Given the description of an element on the screen output the (x, y) to click on. 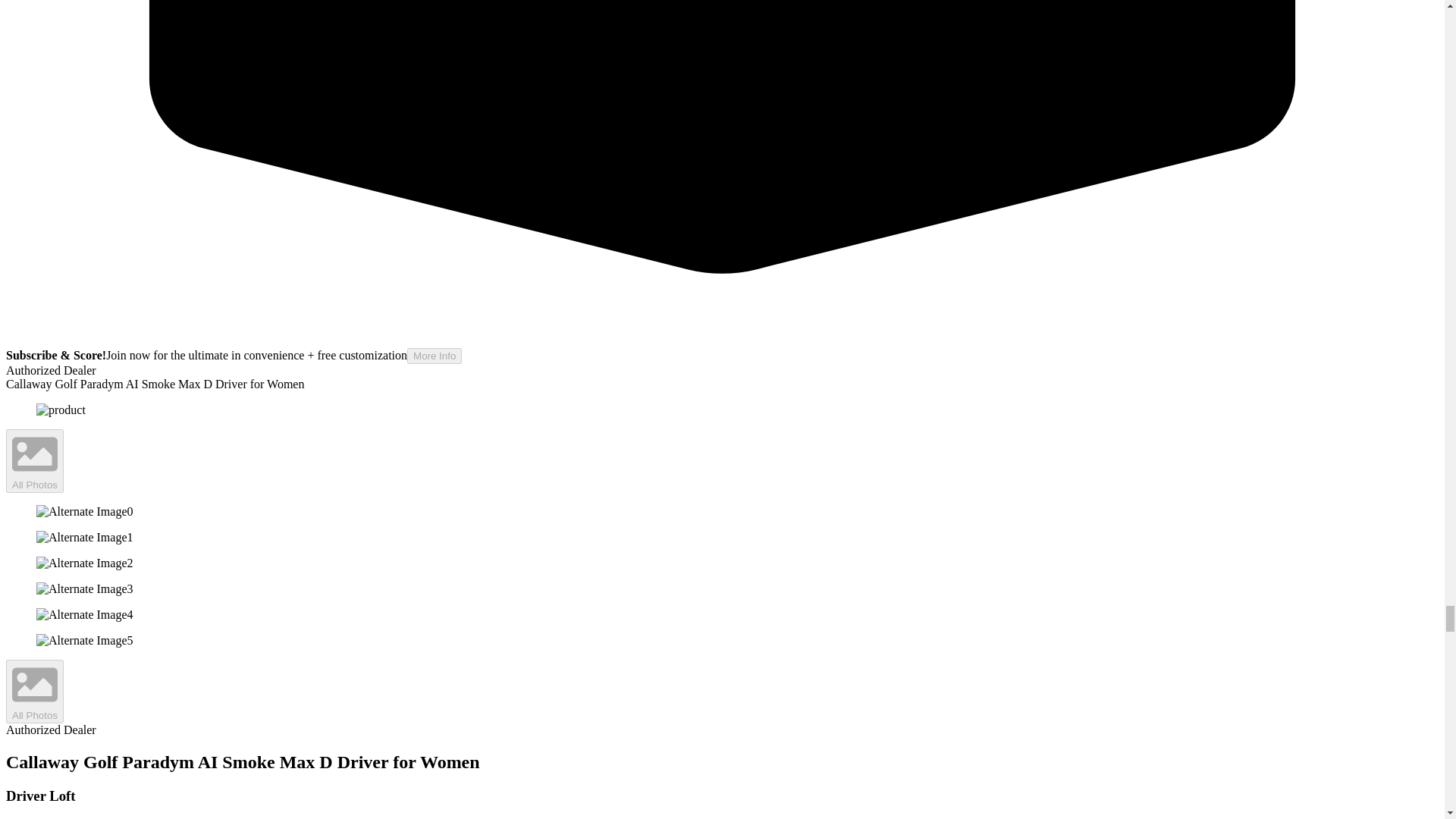
All Photos (34, 461)
All Photos (34, 691)
More Info (434, 355)
